Given the description of an element on the screen output the (x, y) to click on. 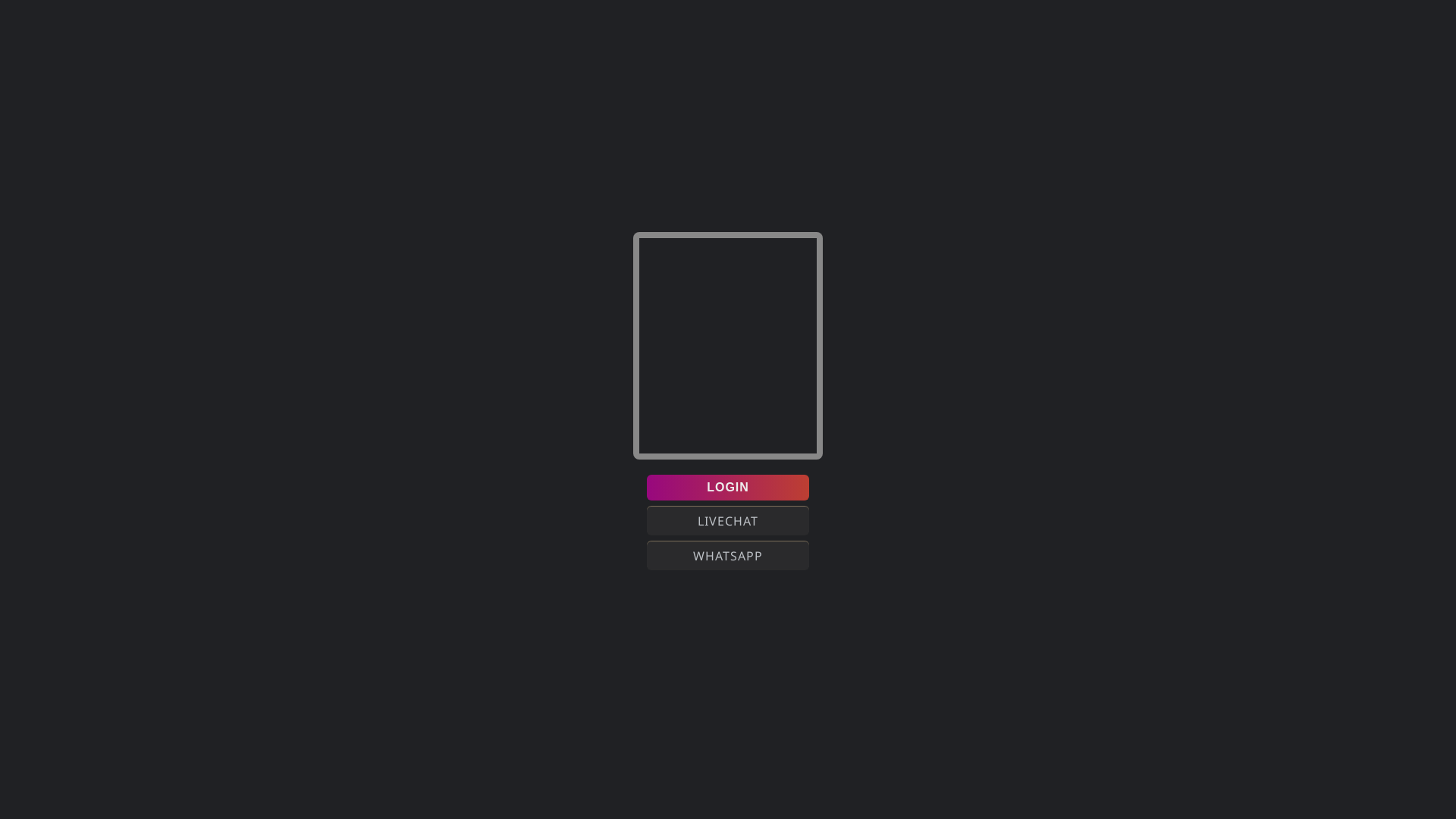
WHATSAPP Element type: text (727, 555)
LIVECHAT Element type: text (727, 520)
LOGIN Element type: text (727, 487)
